Given the description of an element on the screen output the (x, y) to click on. 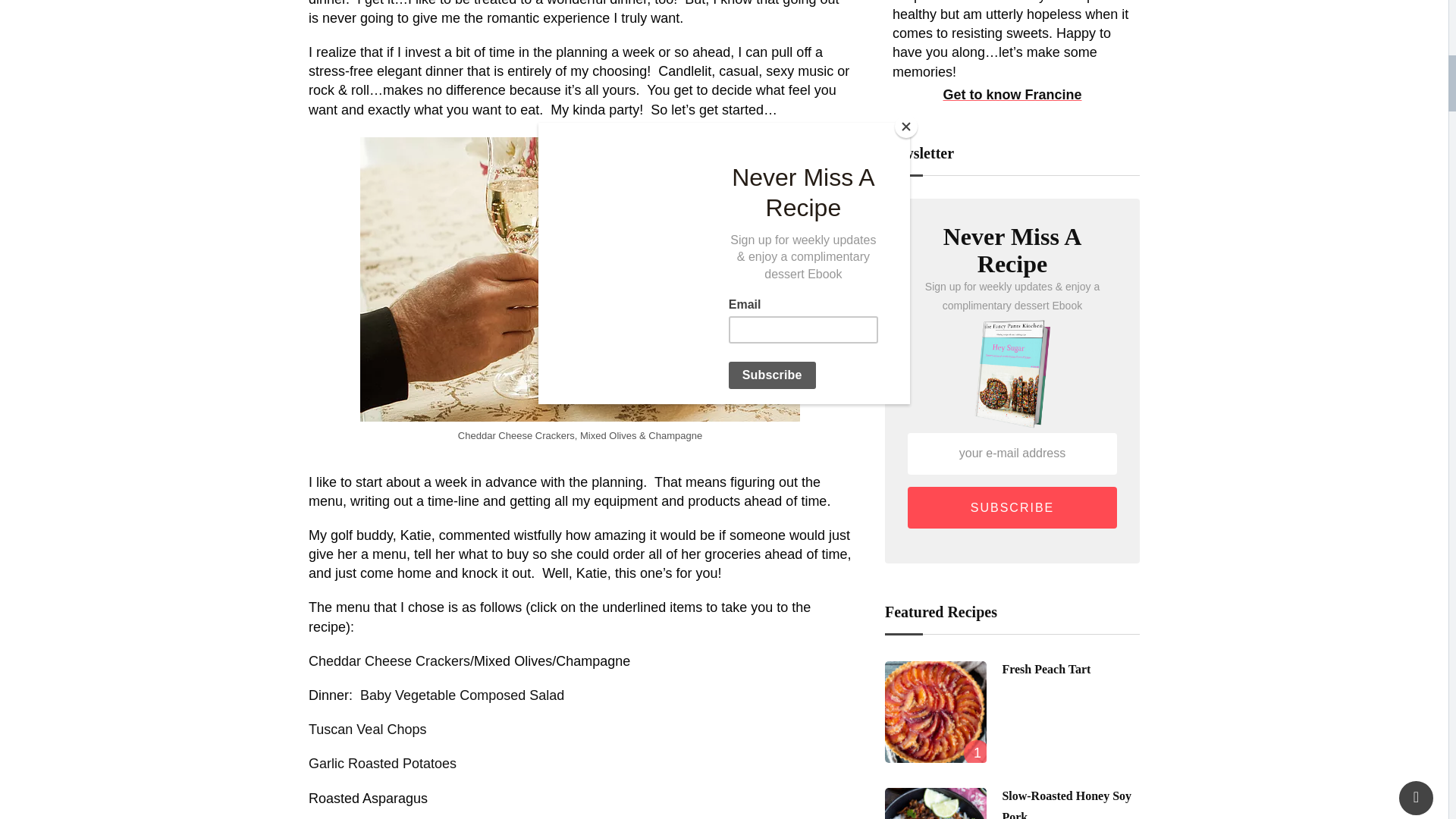
Baby Vegetable Composed Salad (461, 694)
Garlic Roasted Potatoes (382, 763)
Cheddar Cheese Crackers (389, 661)
Slow-Roasted Honey Soy Pork (936, 803)
Tuscan Veal Chops (367, 729)
Fresh Peach Tart (936, 711)
